Given the description of an element on the screen output the (x, y) to click on. 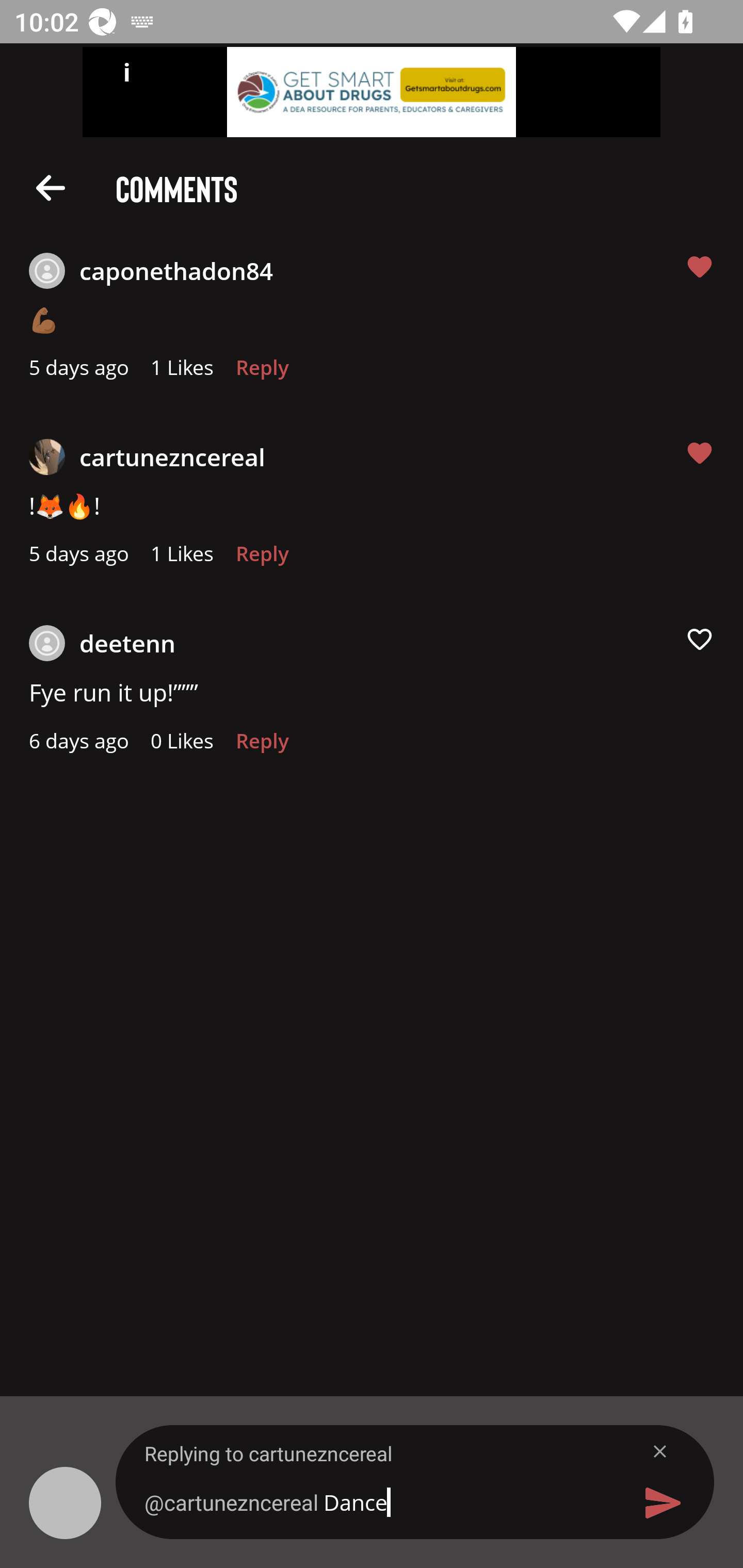
Description (50, 187)
Reply (261, 372)
Reply (261, 558)
Reply (261, 746)
Dance (378, 1502)
